Given the description of an element on the screen output the (x, y) to click on. 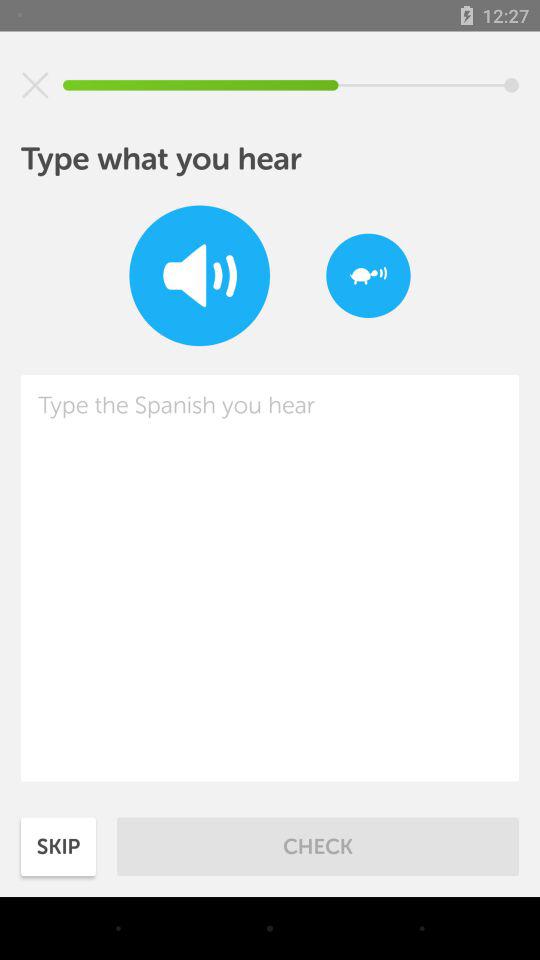
turn on check icon (318, 846)
